Given the description of an element on the screen output the (x, y) to click on. 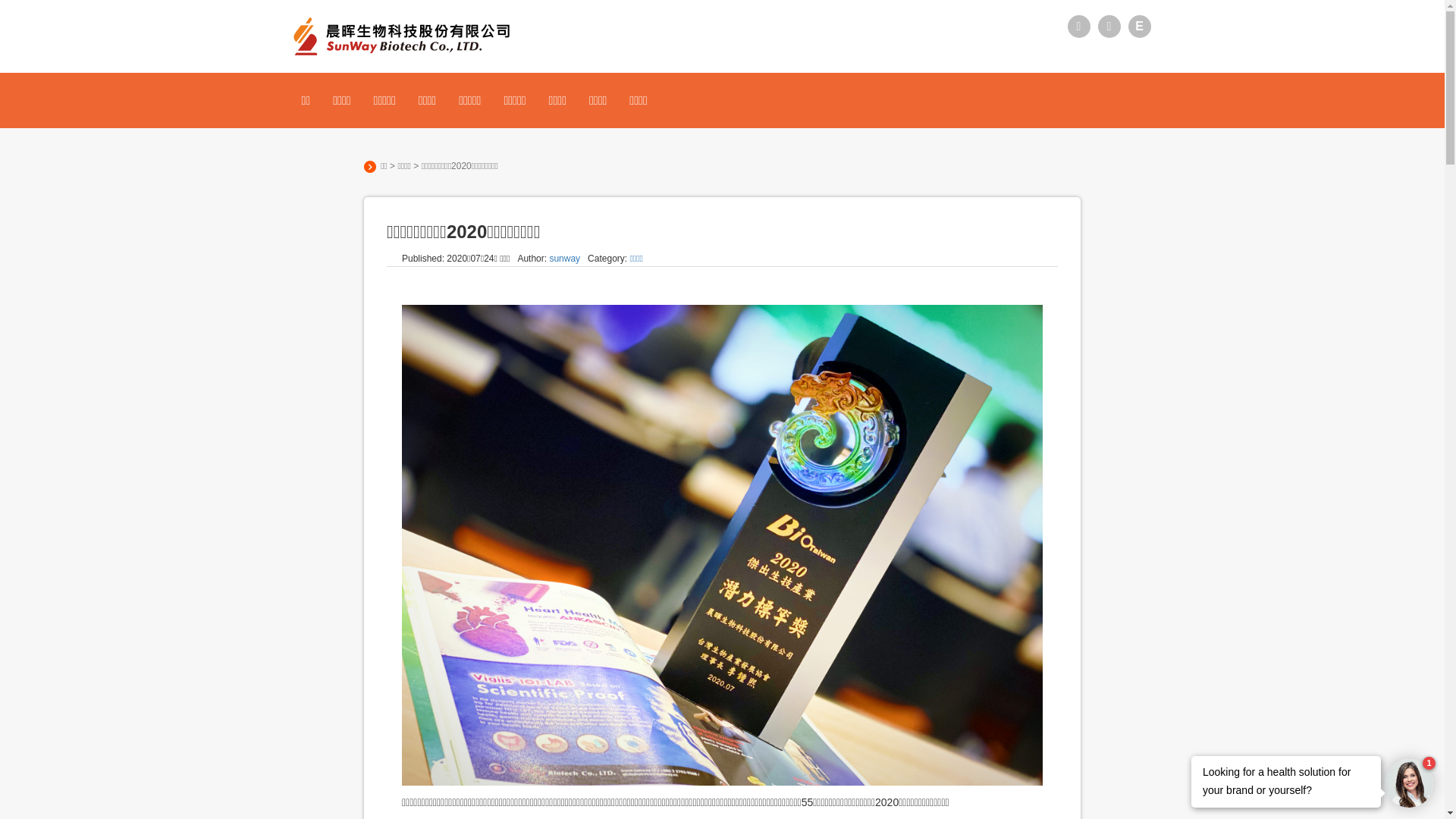
sunway Element type: text (564, 258)
E Element type: text (1139, 26)
